Given the description of an element on the screen output the (x, y) to click on. 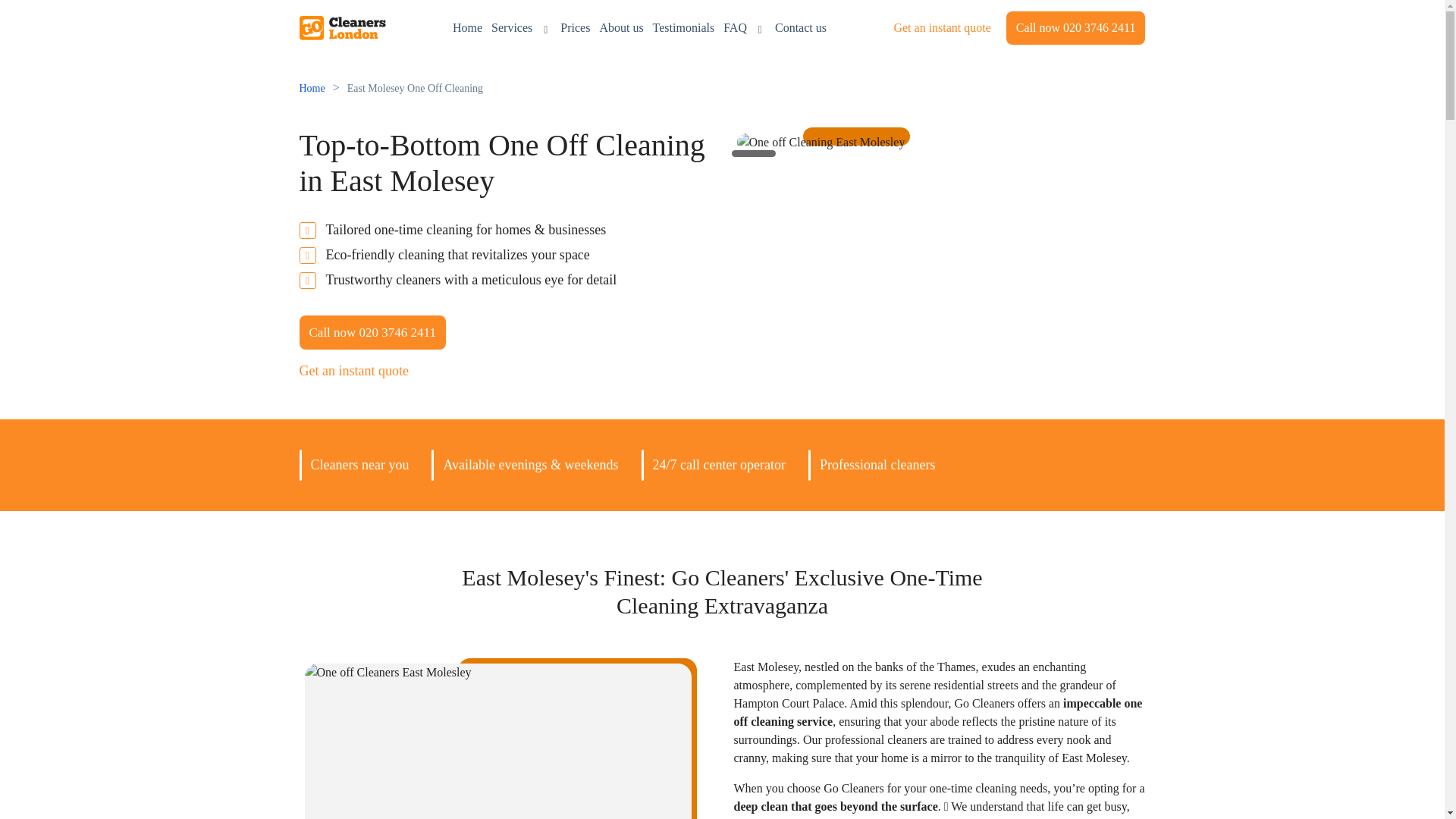
One off Cleaning East Molesley (820, 142)
Testimonials (683, 27)
Services (521, 27)
Cleaning services (521, 27)
One off Cleaners East Molesley (497, 741)
Testimonials (683, 27)
Call Go Cleaners on 020 3746 2411 (1075, 28)
Contact Go Cleaners (800, 27)
Home (466, 27)
About us (620, 27)
